Given the description of an element on the screen output the (x, y) to click on. 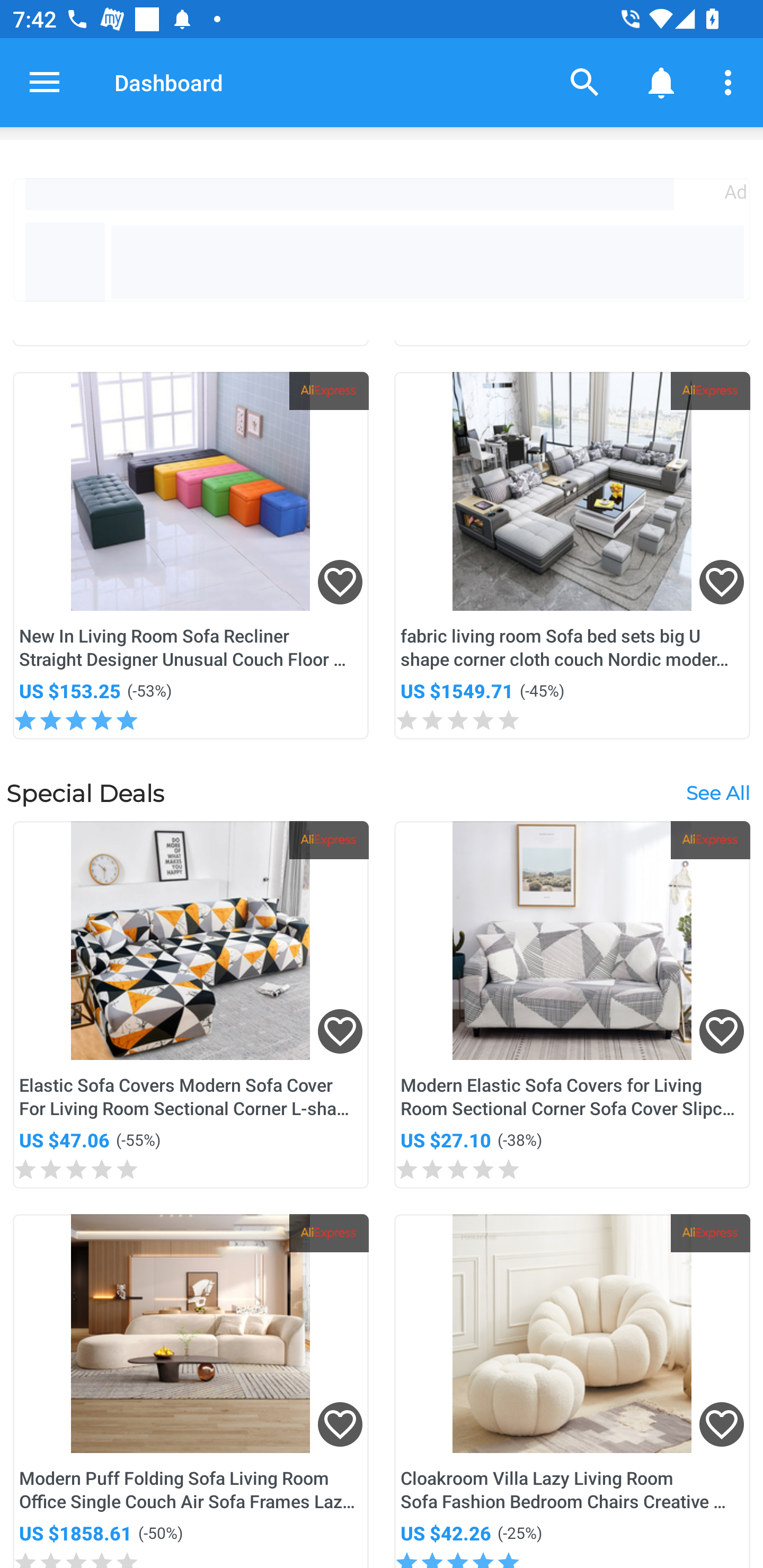
Open navigation drawer (44, 82)
Search (585, 81)
More options (731, 81)
See All (717, 792)
